Given the description of an element on the screen output the (x, y) to click on. 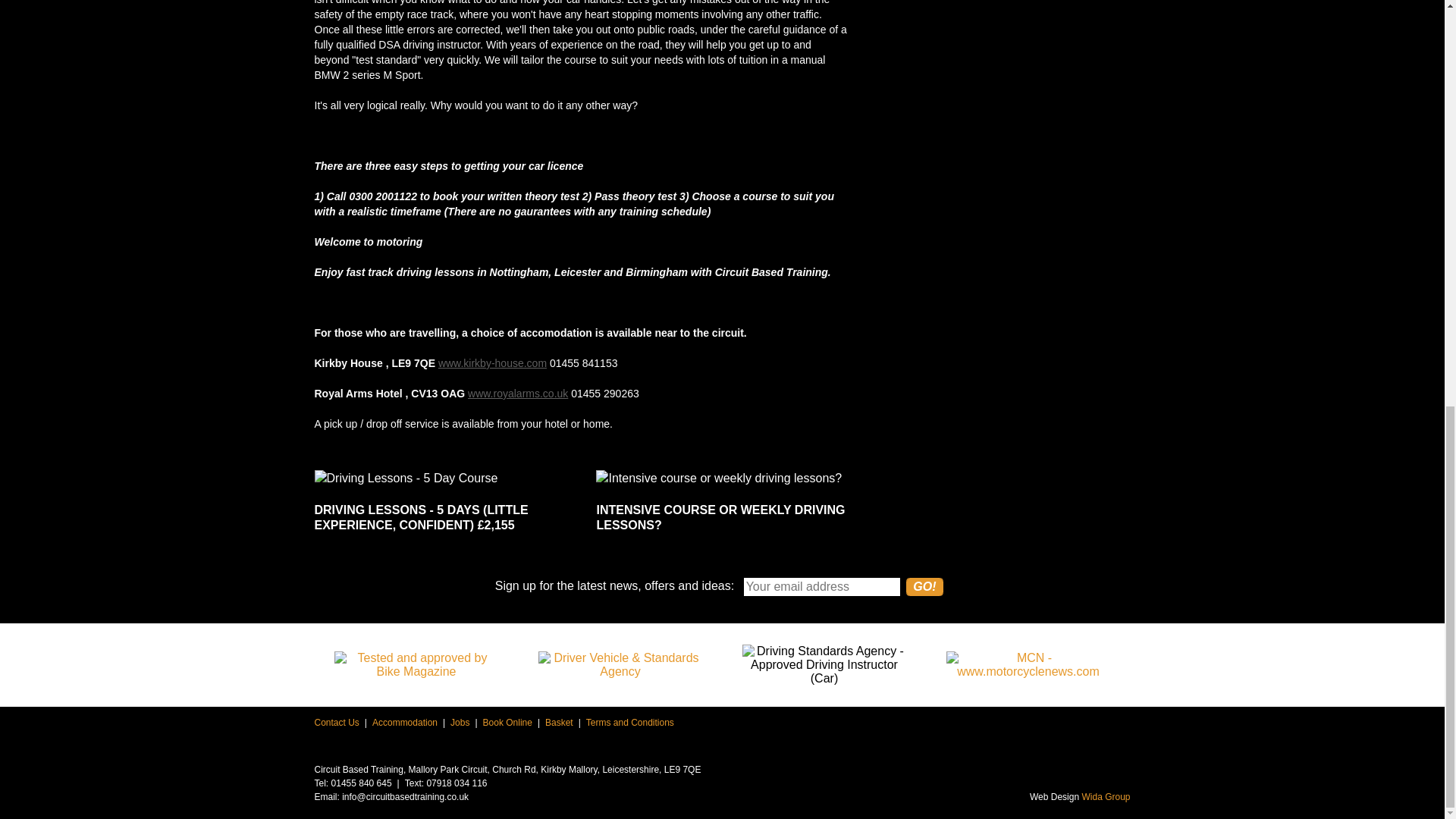
www.kirkby-house.com (492, 363)
INTENSIVE COURSE OR WEEKLY DRIVING LESSONS? (721, 508)
GO! (924, 587)
www.royalarms.co.uk (517, 393)
GO! (924, 587)
